Given the description of an element on the screen output the (x, y) to click on. 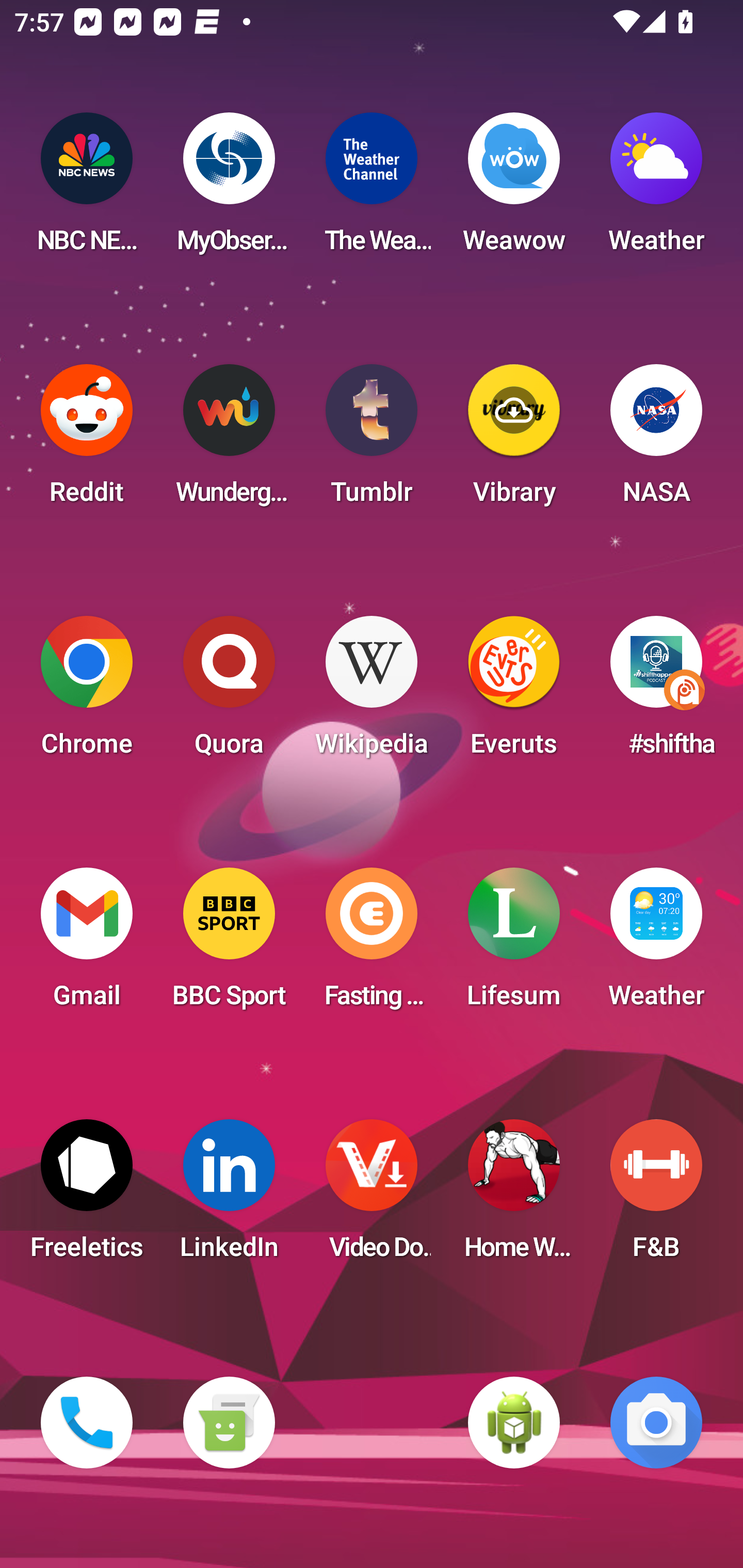
NBC NEWS (86, 188)
MyObservatory (228, 188)
The Weather Channel (371, 188)
Weawow (513, 188)
Weather (656, 188)
Reddit (86, 440)
Wunderground (228, 440)
Tumblr (371, 440)
Vibrary (513, 440)
NASA (656, 440)
Chrome (86, 692)
Quora (228, 692)
Wikipedia (371, 692)
Everuts (513, 692)
#shifthappens in the Digital Workplace Podcast (656, 692)
Gmail (86, 943)
BBC Sport (228, 943)
Fasting Coach (371, 943)
Lifesum (513, 943)
Weather (656, 943)
Freeletics (86, 1195)
LinkedIn (228, 1195)
Video Downloader & Ace Player (371, 1195)
Home Workout (513, 1195)
F&B (656, 1195)
Phone (86, 1422)
Messaging (228, 1422)
WebView Browser Tester (513, 1422)
Camera (656, 1422)
